Given the description of an element on the screen output the (x, y) to click on. 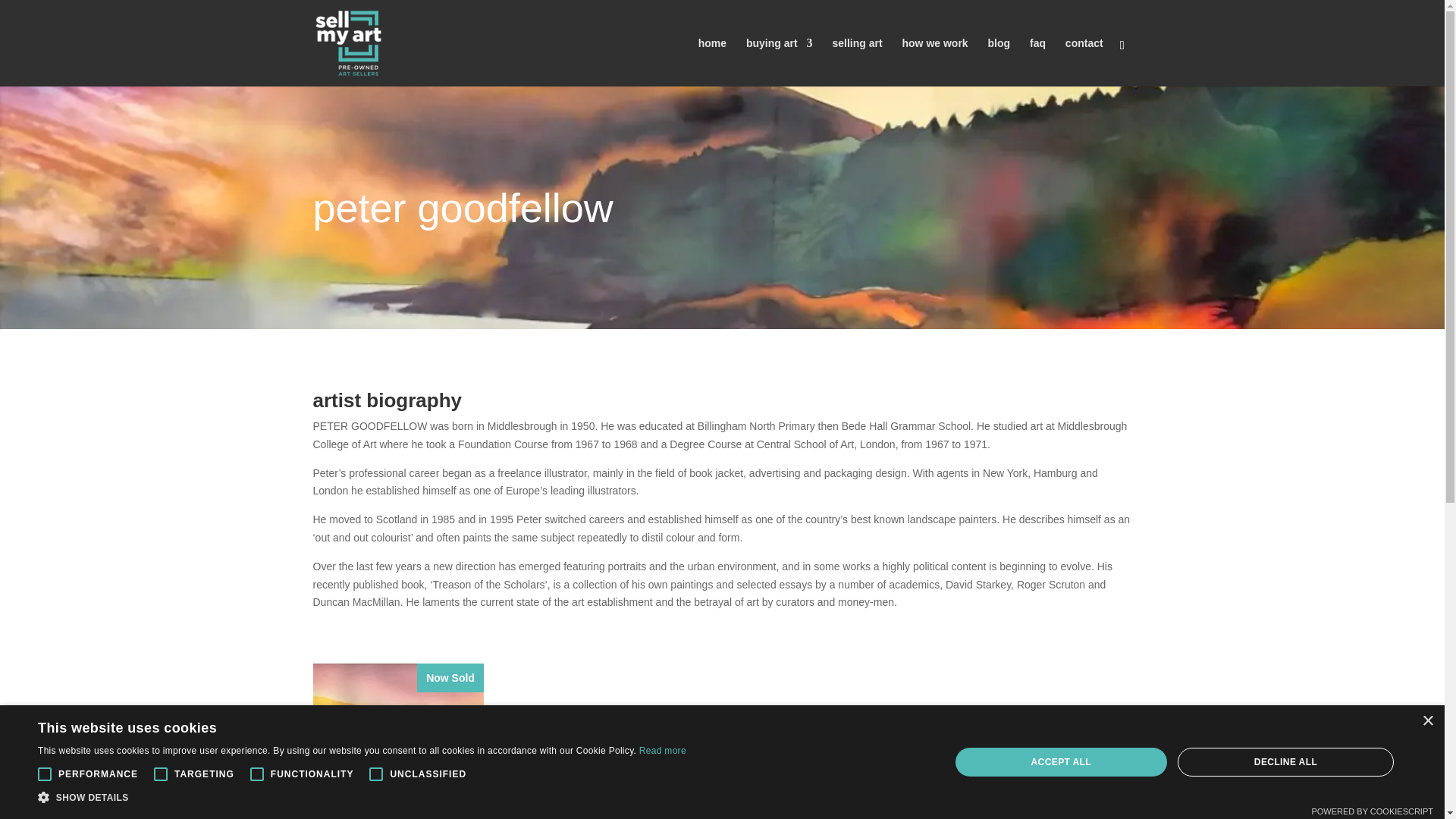
buying art (778, 61)
selling art (856, 61)
Consent Management Platform (1371, 810)
how we work (935, 61)
